Given the description of an element on the screen output the (x, y) to click on. 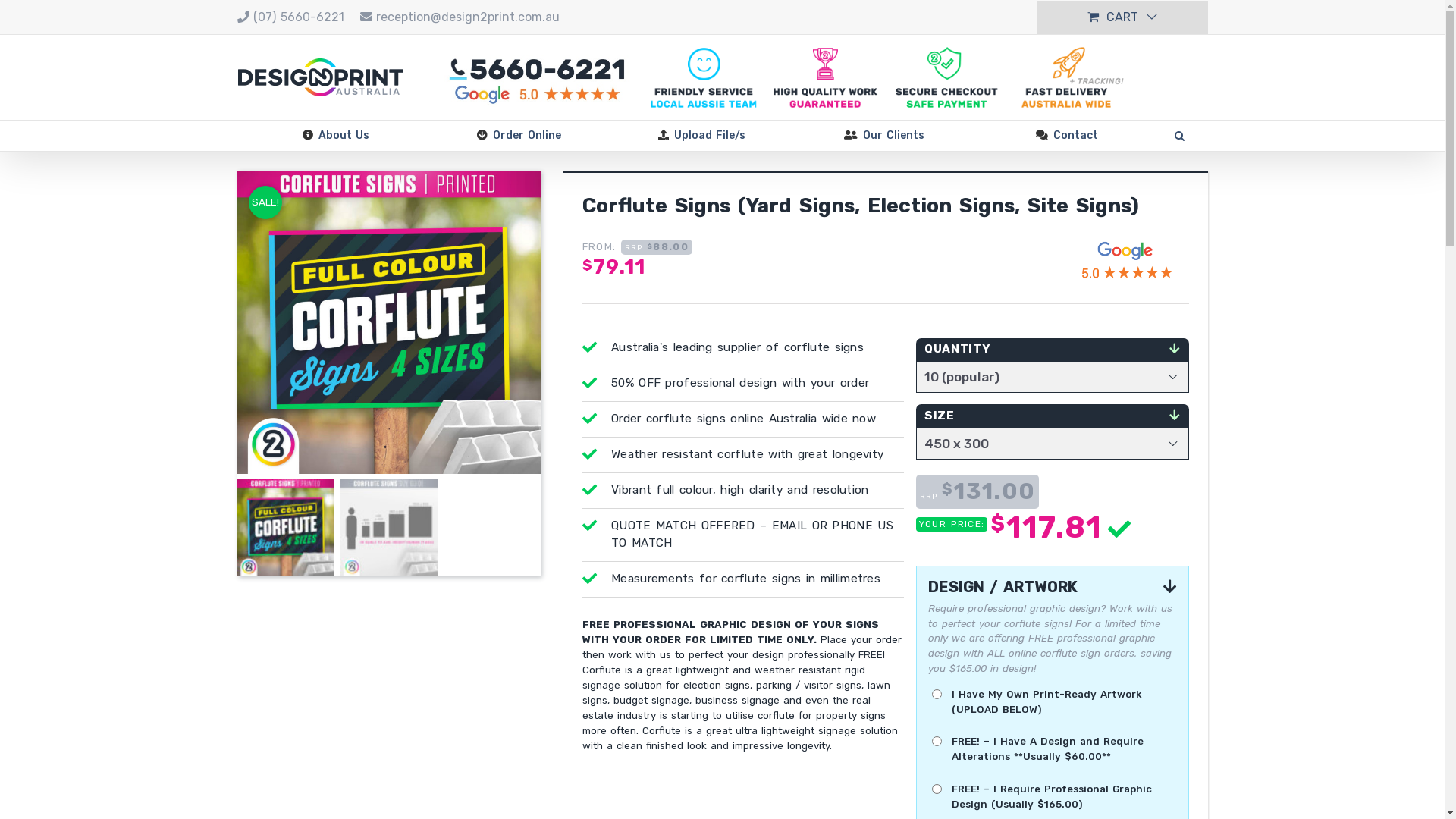
CART Element type: text (1122, 16)
(07) 5660-6221 Element type: text (298, 16)
reception@design2print.com.au Element type: text (467, 16)
Our Clients Element type: text (884, 135)
Search Element type: hover (1179, 135)
Contact Element type: text (1066, 135)
About Us Element type: text (335, 135)
Upload File/s Element type: text (700, 135)
Order Online Element type: text (518, 135)
